Given the description of an element on the screen output the (x, y) to click on. 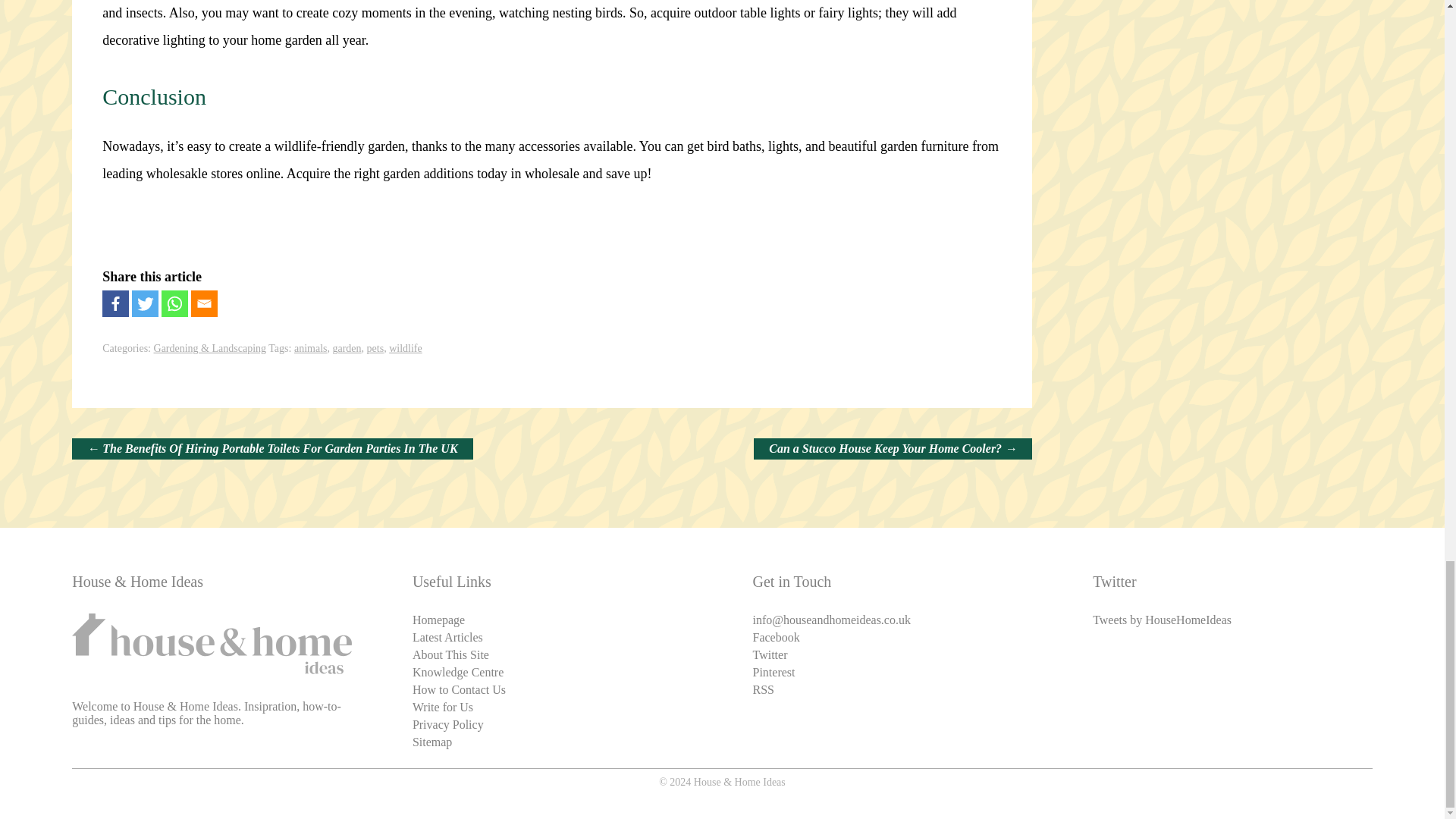
wildlife (405, 348)
garden (346, 348)
animals (310, 348)
pets (375, 348)
